Given the description of an element on the screen output the (x, y) to click on. 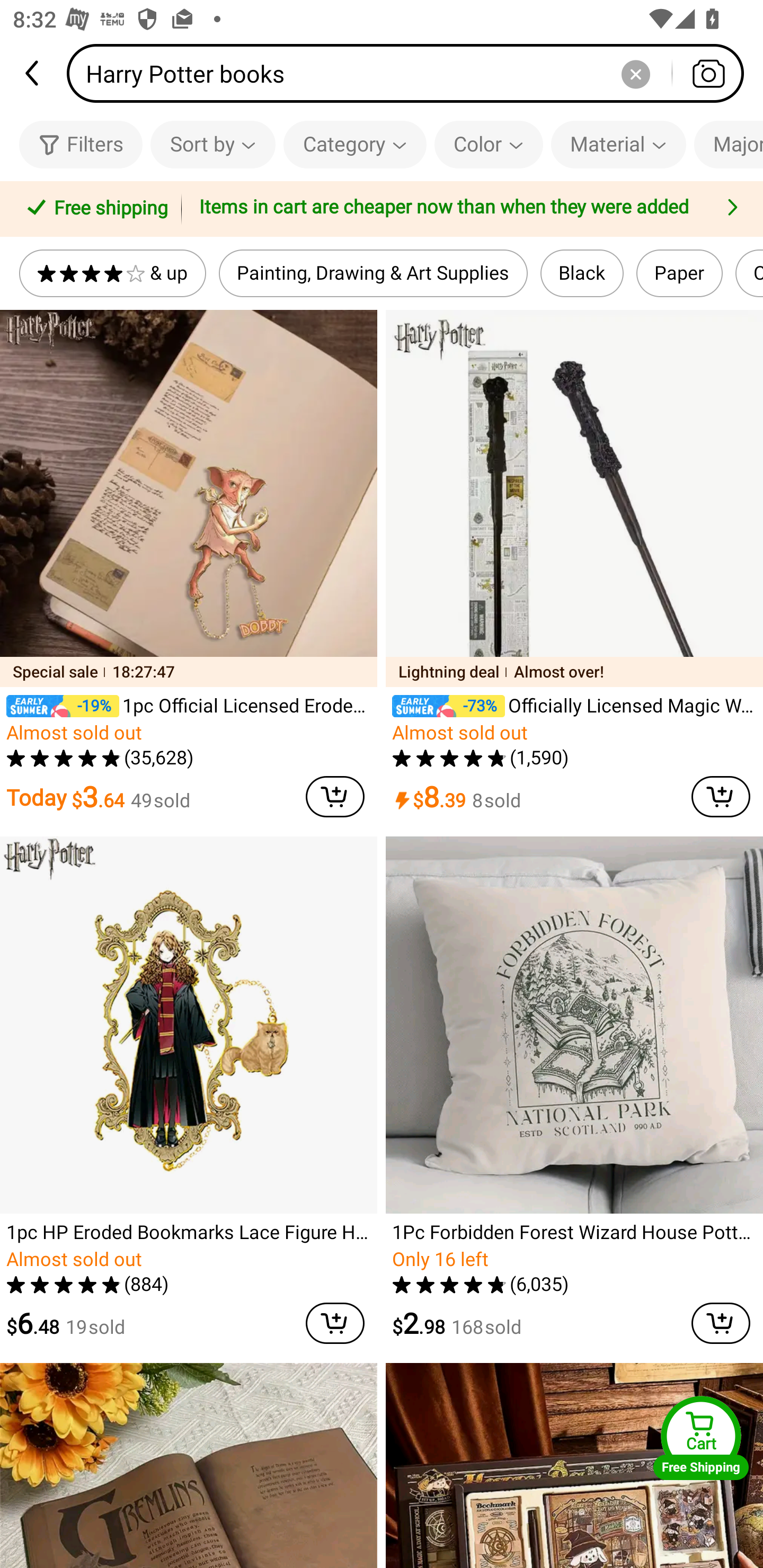
back (33, 72)
Harry Potter books (411, 73)
Delete search history (635, 73)
Search by photo (708, 73)
Filters (80, 143)
Sort by (212, 143)
Category (354, 143)
Color (488, 143)
Material (617, 143)
Major Material (728, 143)
 Free shipping (93, 208)
& up (112, 273)
Painting, Drawing & Art Supplies (372, 273)
Black (581, 273)
Paper (679, 273)
